Given the description of an element on the screen output the (x, y) to click on. 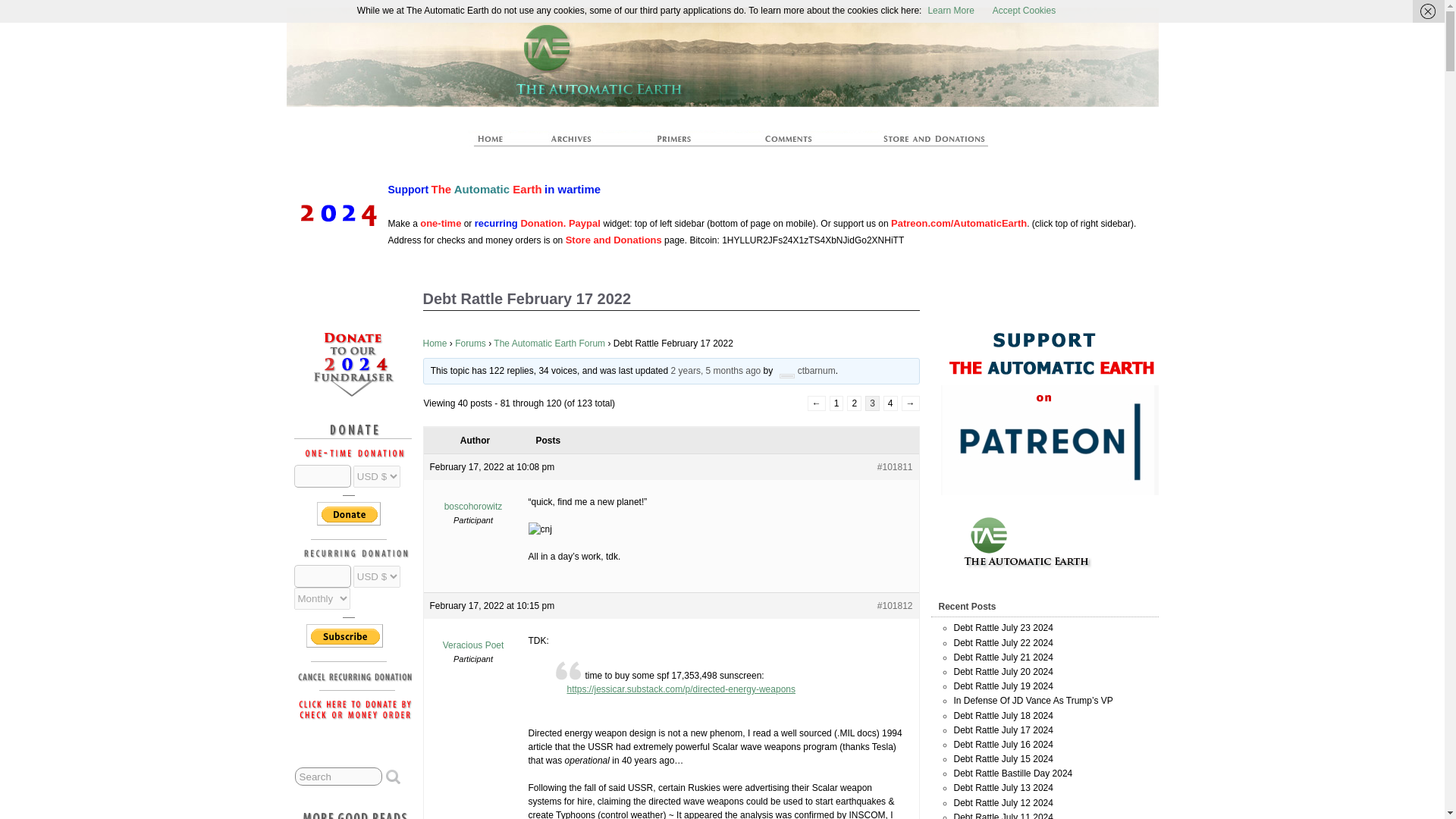
Home (434, 343)
View ctbarnum's profile (805, 370)
Store and Donations (614, 240)
Forum (789, 143)
View Veracious Poet's profile (472, 638)
4 (890, 403)
View boscohorowitz's profile (472, 500)
ctbarnum (805, 370)
Primers (680, 143)
The Automatic Earth (498, 143)
The Automatic Earth Forum (549, 343)
Reply To: Debt Rattle February 17 2022 (716, 370)
2 years, 5 months ago (716, 370)
The Automatic Earth (860, 36)
boscohorowitz (472, 500)
